Given the description of an element on the screen output the (x, y) to click on. 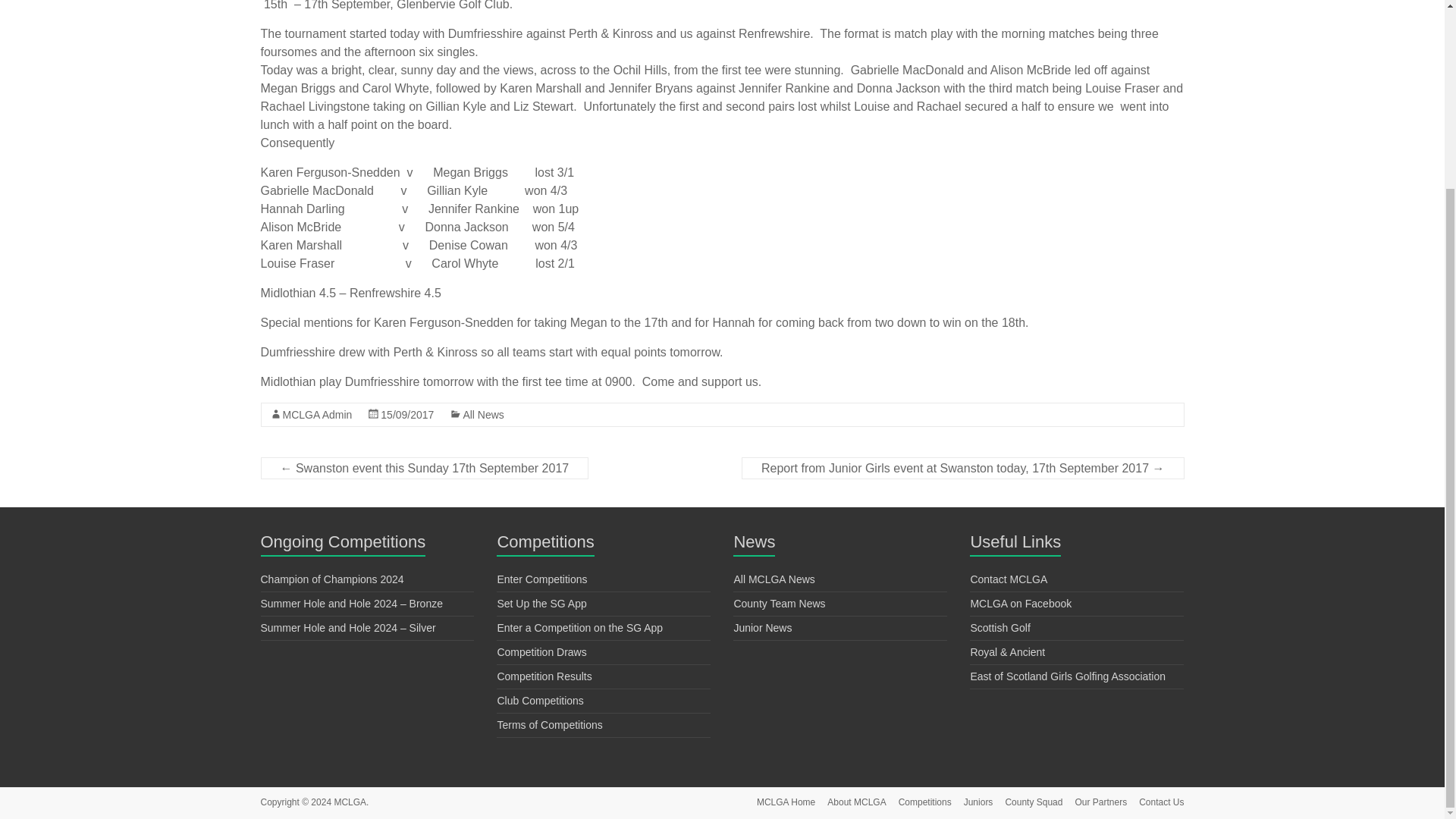
MCLGA (350, 801)
6:33 pm (406, 414)
